Given the description of an element on the screen output the (x, y) to click on. 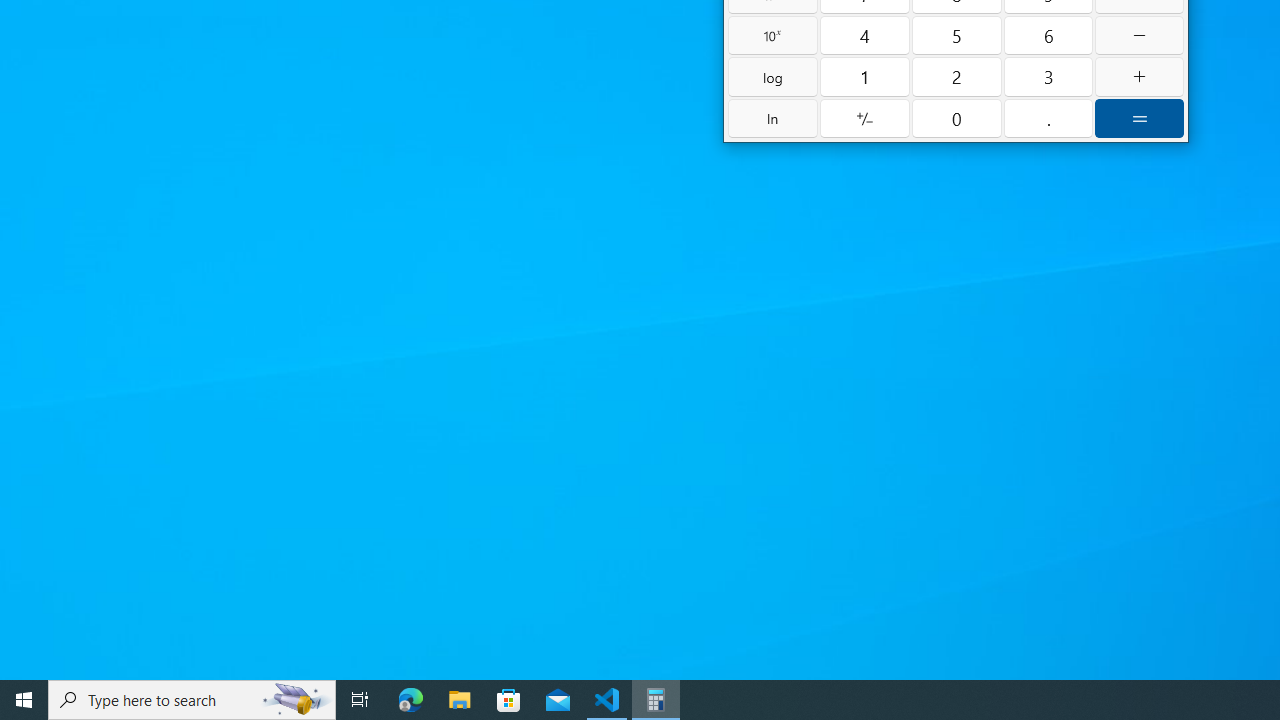
Four (865, 34)
Log (772, 76)
Ten to the exponent (772, 34)
Zero (956, 118)
Decimal separator (1048, 118)
Positive negative (865, 118)
